Given the description of an element on the screen output the (x, y) to click on. 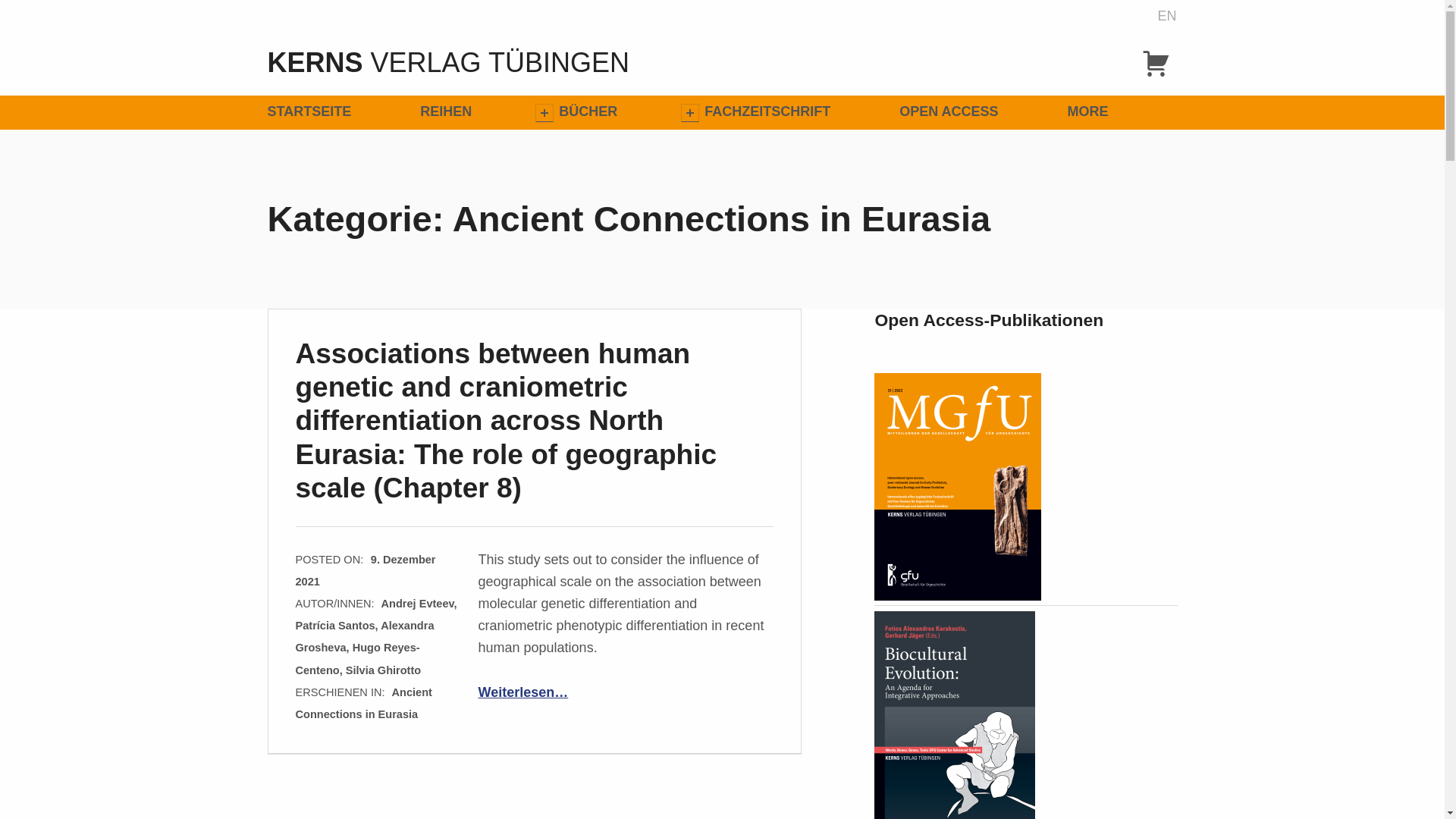
EN (1163, 15)
REIHEN (445, 112)
FACHZEITSCHRIFT (798, 112)
MORE (1119, 112)
Posted on: 9. Dezember 2021 (365, 570)
OPEN ACCESS (980, 112)
STARTSEITE (340, 112)
DE (1131, 15)
9. Dezember 2021 (365, 570)
Ancient Connections in Eurasia (363, 703)
